Given the description of an element on the screen output the (x, y) to click on. 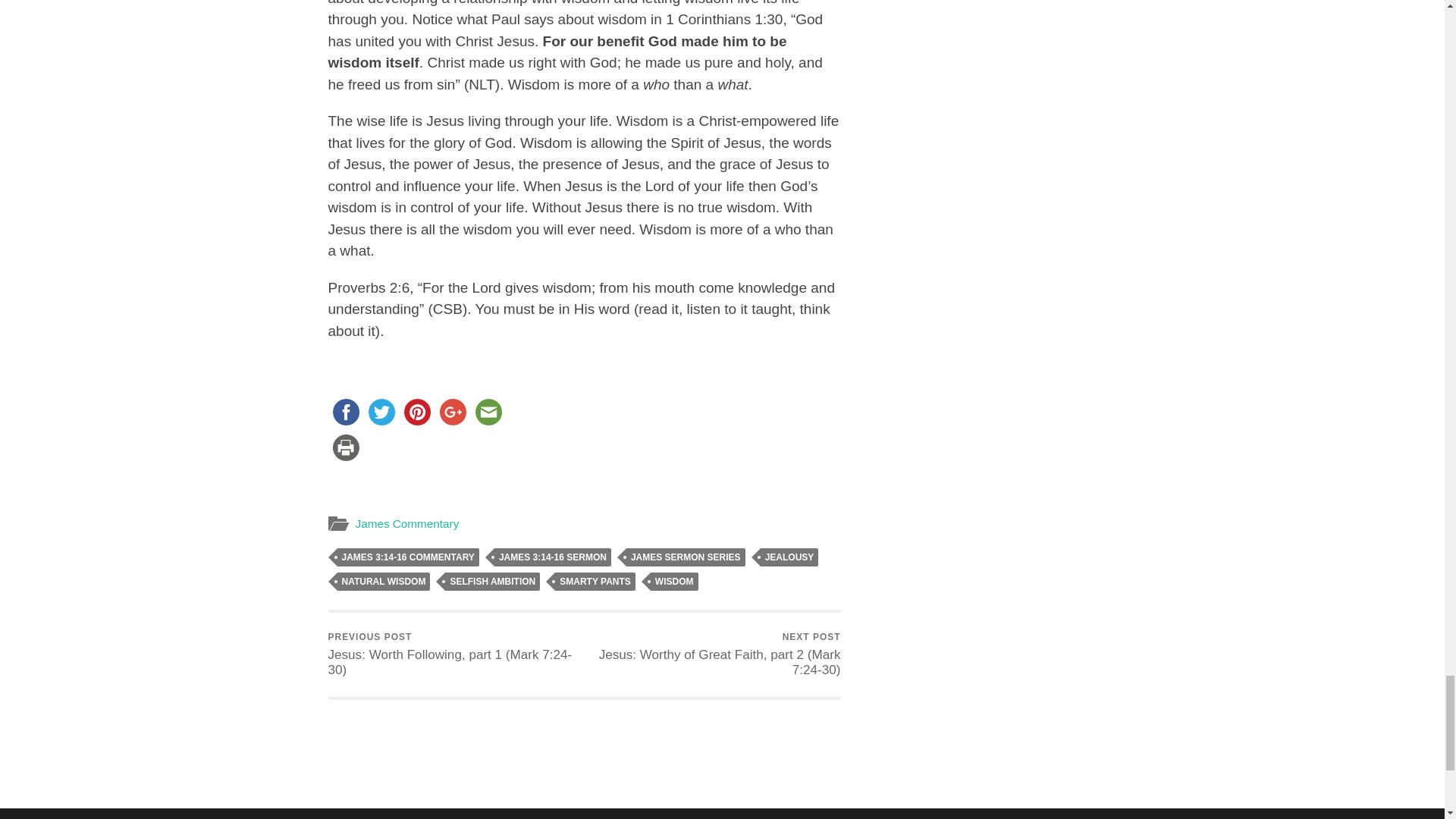
google (452, 411)
facebook (344, 411)
twitter (381, 411)
email (487, 411)
print (344, 447)
pinterest (415, 411)
